Given the description of an element on the screen output the (x, y) to click on. 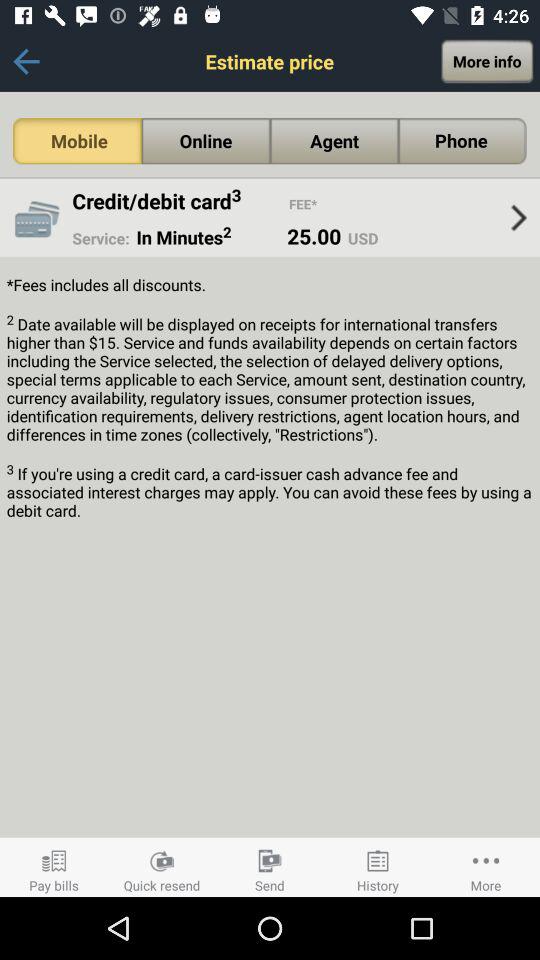
tap the item above the credit/debit card3 (205, 141)
